Given the description of an element on the screen output the (x, y) to click on. 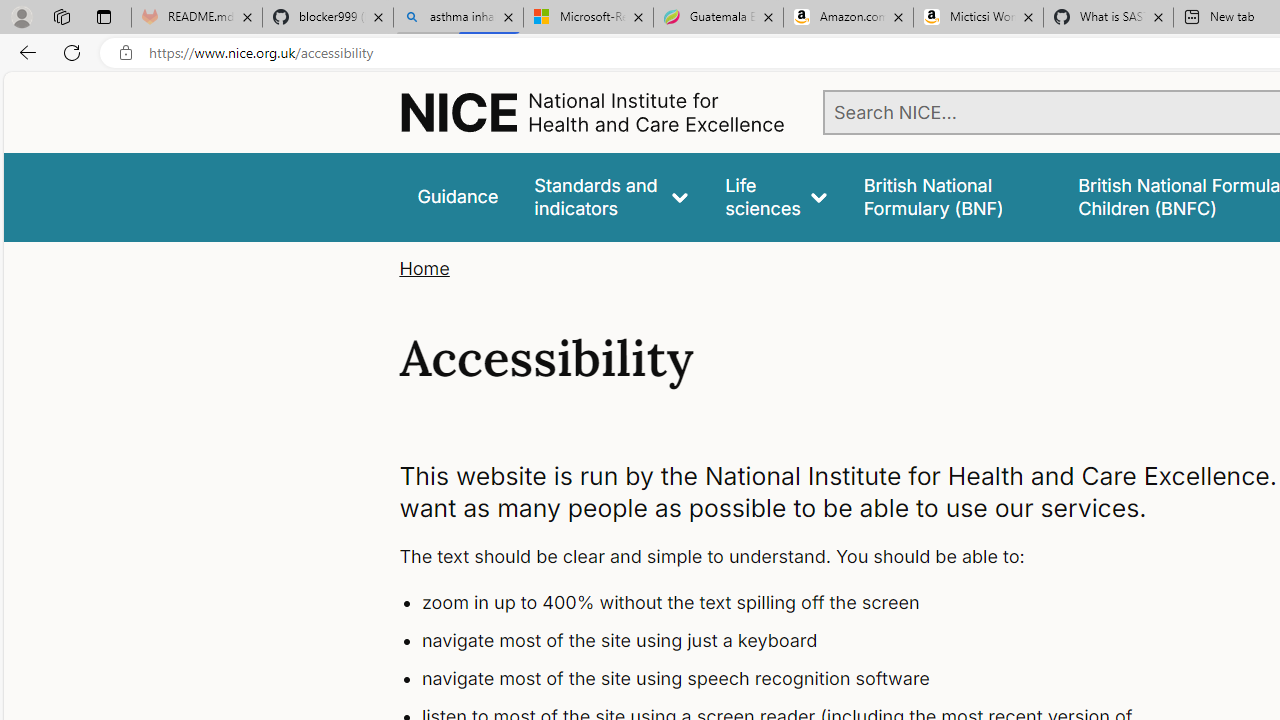
asthma inhaler - Search (458, 17)
zoom in up to 400% without the text spilling off the screen (796, 603)
Guidance (458, 196)
navigate most of the site using just a keyboard (796, 641)
